Given the description of an element on the screen output the (x, y) to click on. 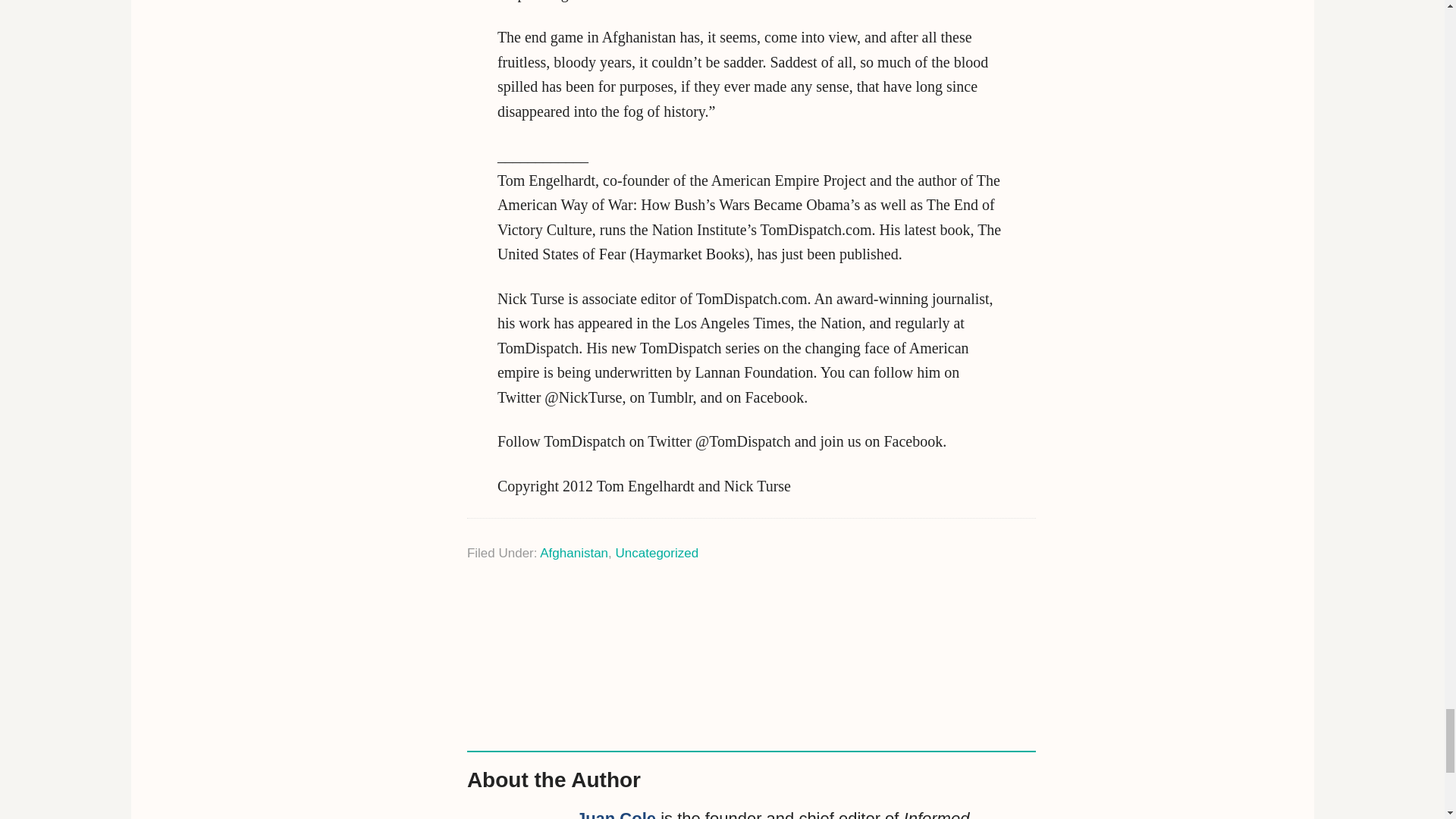
Juan Cole (616, 814)
Uncategorized (656, 553)
Afghanistan (574, 553)
